Given the description of an element on the screen output the (x, y) to click on. 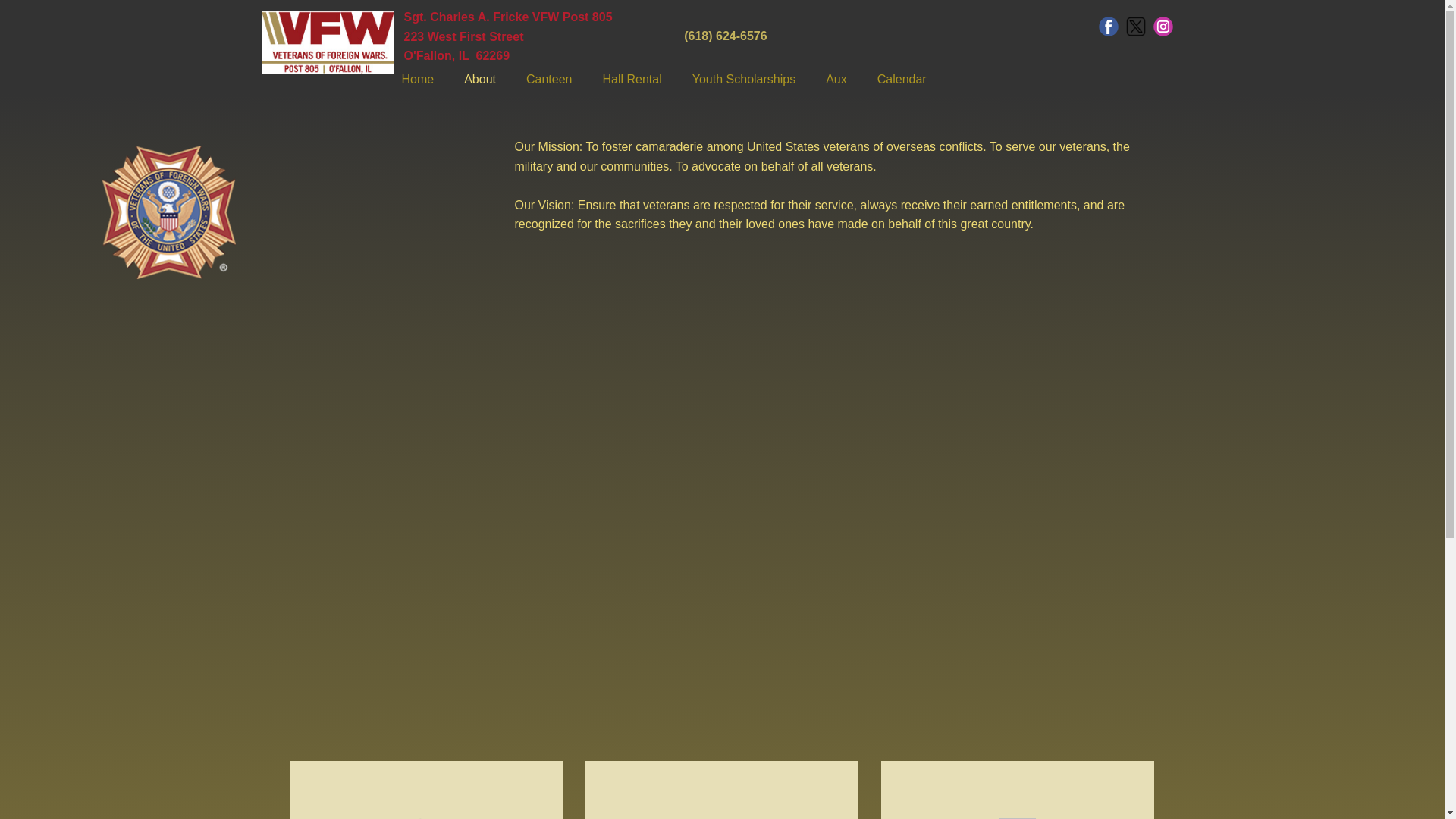
Canteen (548, 79)
About (480, 79)
Calendar (901, 79)
Aux (836, 79)
facebook (1107, 26)
Sponsorship (743, 79)
Home (418, 79)
twitter (1134, 26)
instagram (1162, 26)
Youth Scholarships (743, 79)
